Given the description of an element on the screen output the (x, y) to click on. 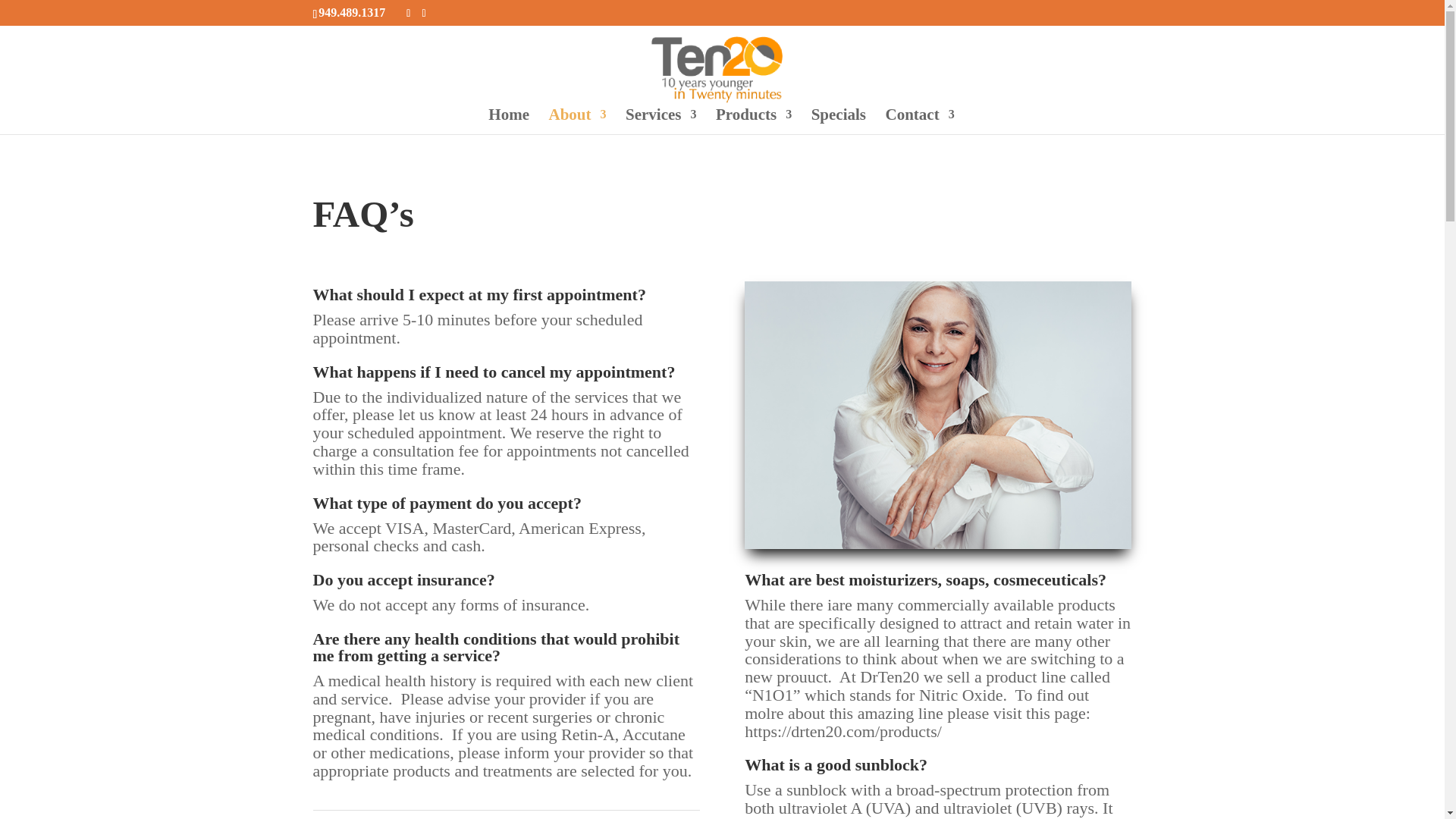
Products (754, 121)
Home (508, 121)
About (577, 121)
Specials (838, 121)
Drten20-greyhair lady (937, 414)
Contact (919, 121)
Services (660, 121)
